Given the description of an element on the screen output the (x, y) to click on. 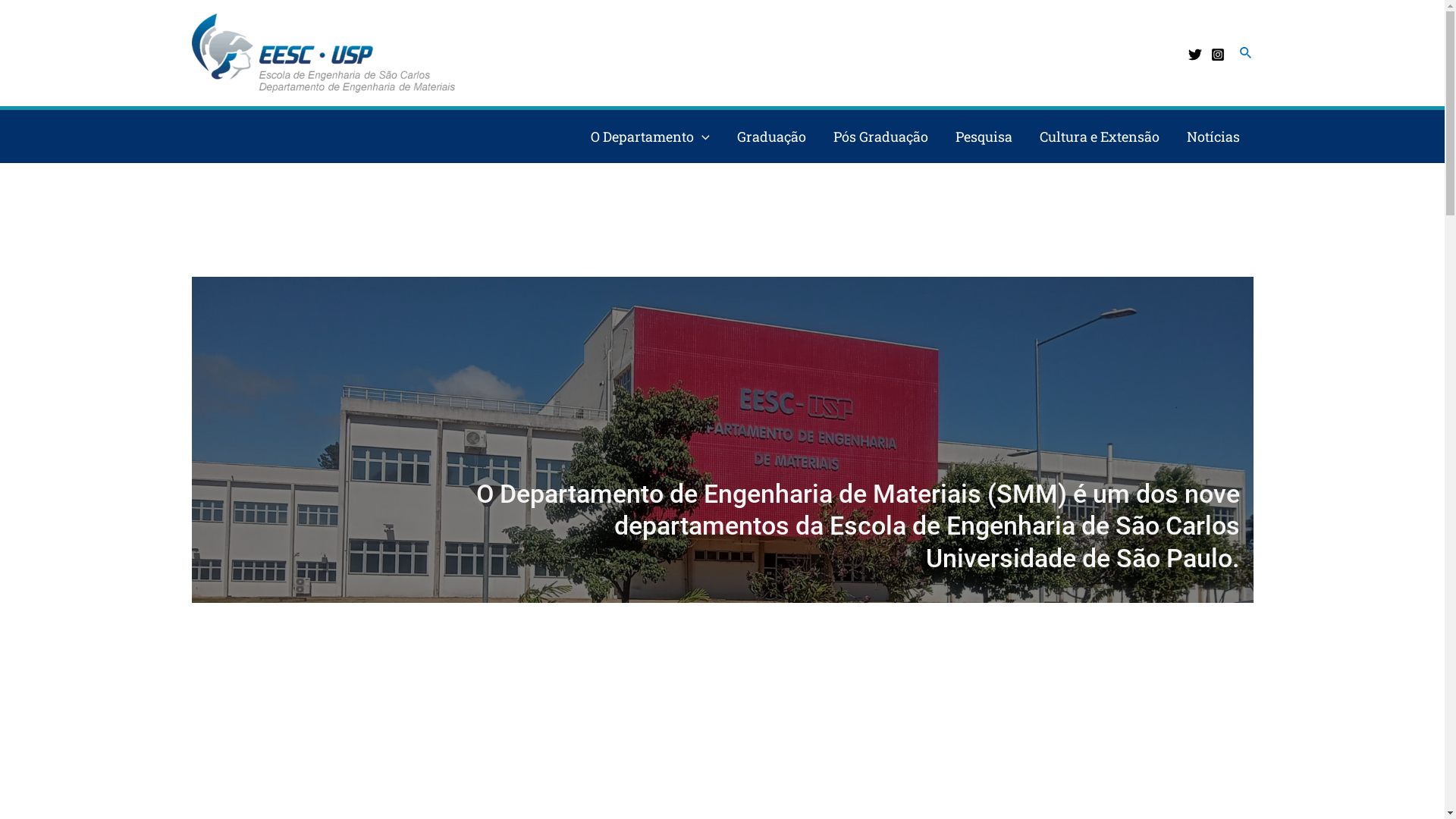
Pesquisa Element type: text (983, 136)
Pesquisar Element type: text (1245, 52)
O Departamento Element type: text (650, 136)
